Given the description of an element on the screen output the (x, y) to click on. 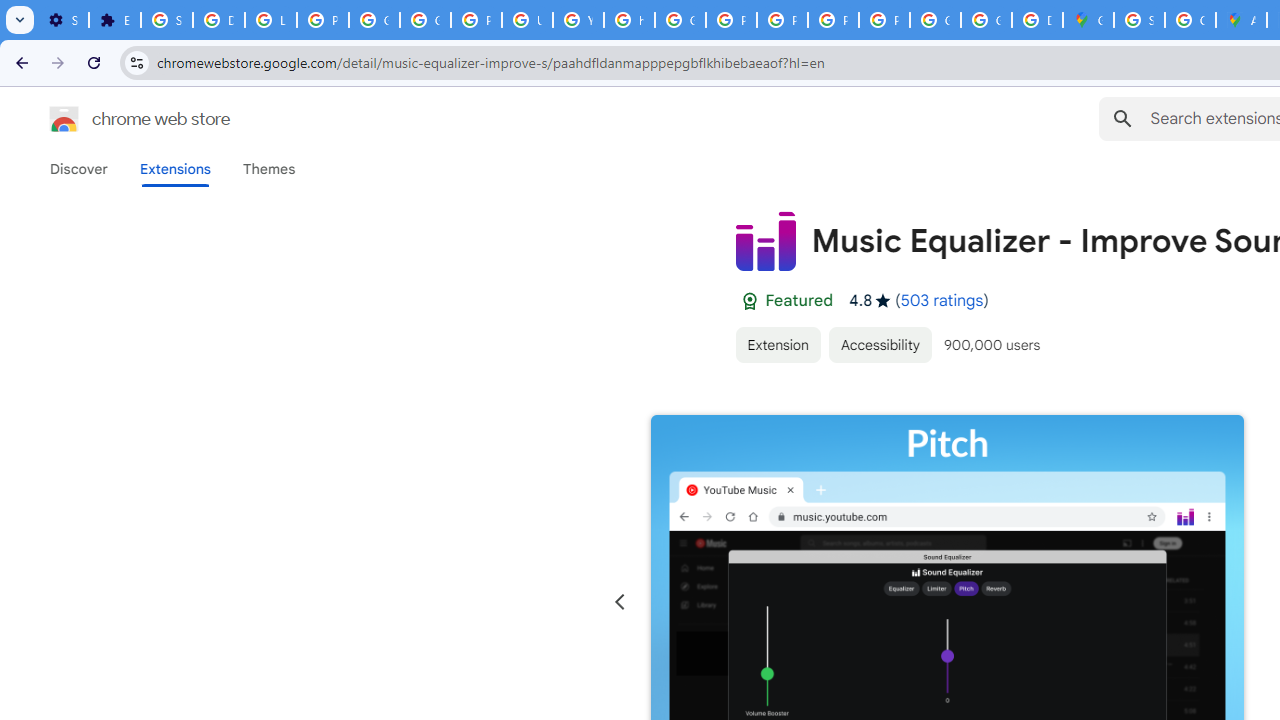
Chrome Web Store logo chrome web store (118, 118)
Discover (79, 169)
Accessibility (879, 344)
https://scholar.google.com/ (629, 20)
Extension (777, 344)
